Given the description of an element on the screen output the (x, y) to click on. 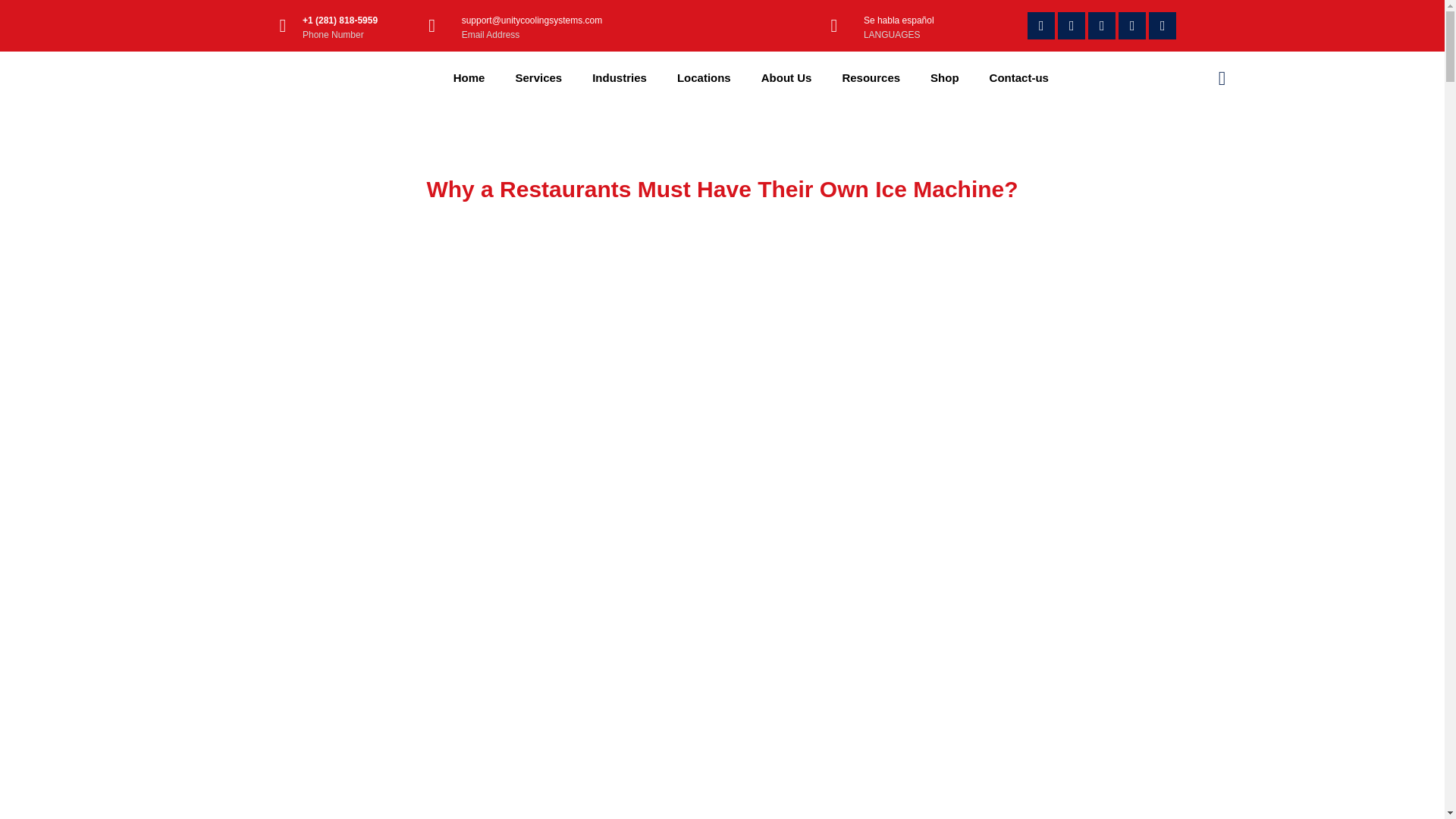
Home (469, 77)
Industries (619, 77)
Services (537, 77)
